Given the description of an element on the screen output the (x, y) to click on. 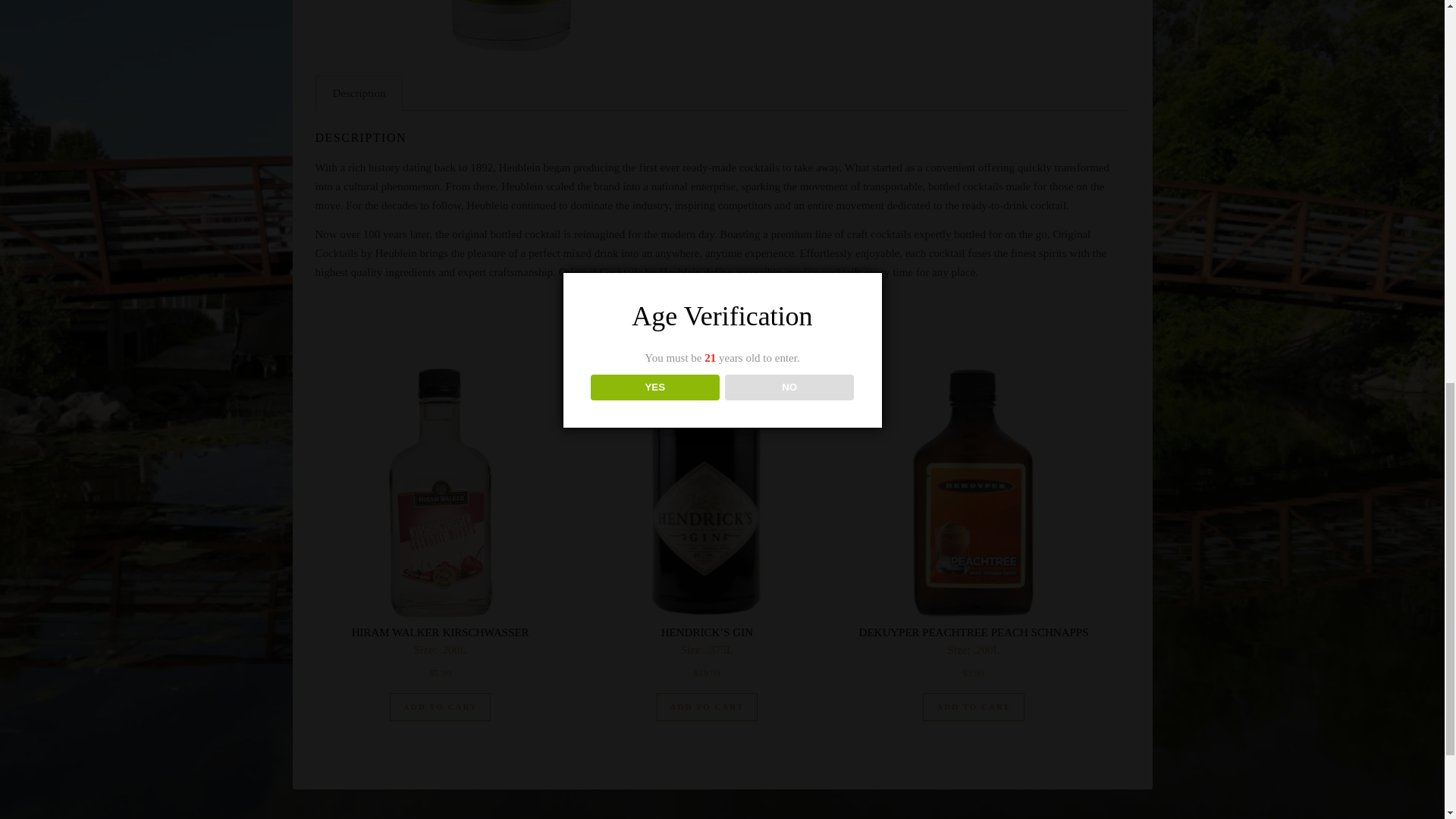
ADD TO CART (974, 706)
ADD TO CART (707, 706)
ADD TO CART (441, 706)
Description (358, 93)
